Given the description of an element on the screen output the (x, y) to click on. 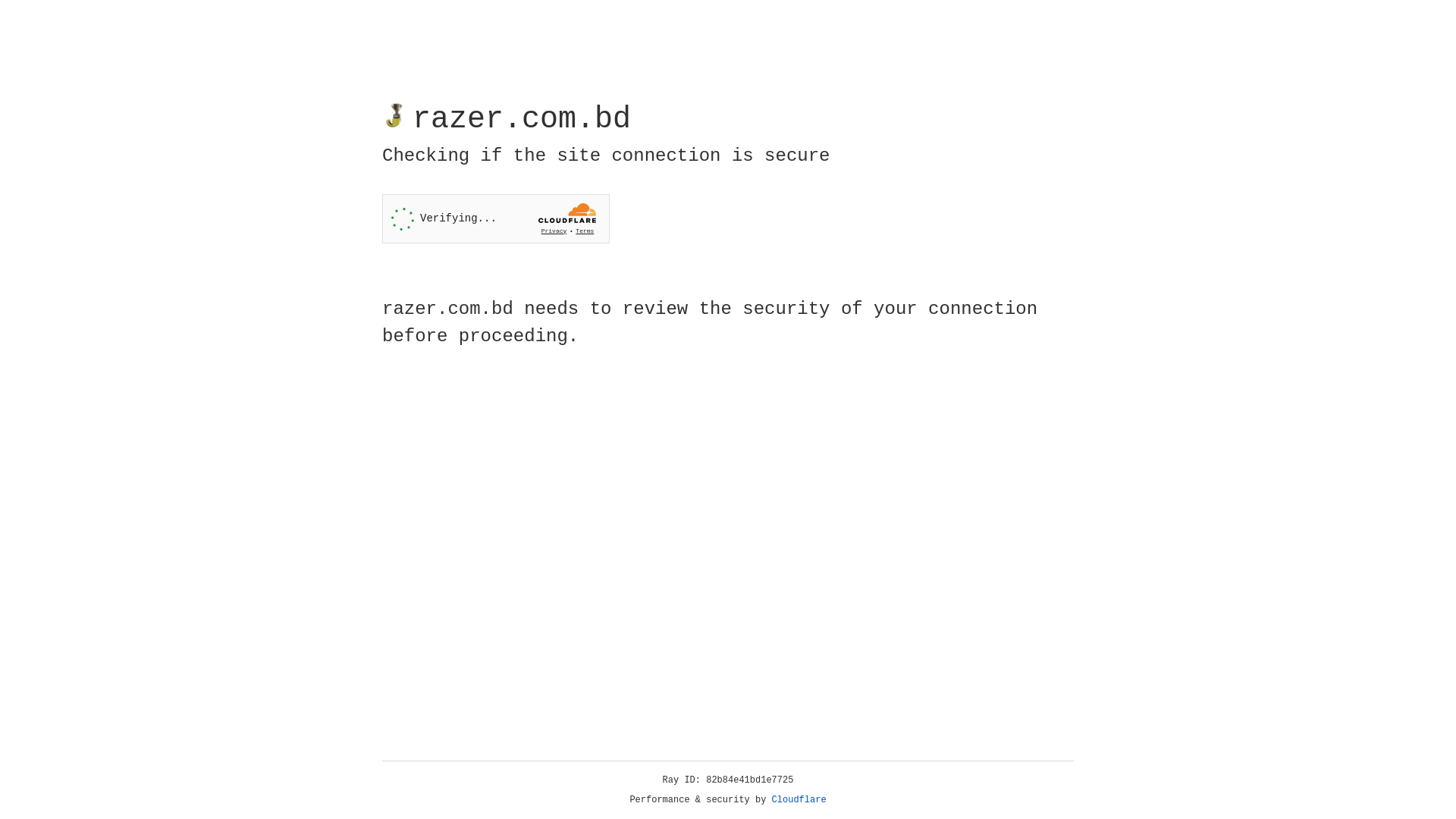
Cloudflare Element type: text (798, 799)
Widget containing a Cloudflare security challenge Element type: hover (495, 218)
